Given the description of an element on the screen output the (x, y) to click on. 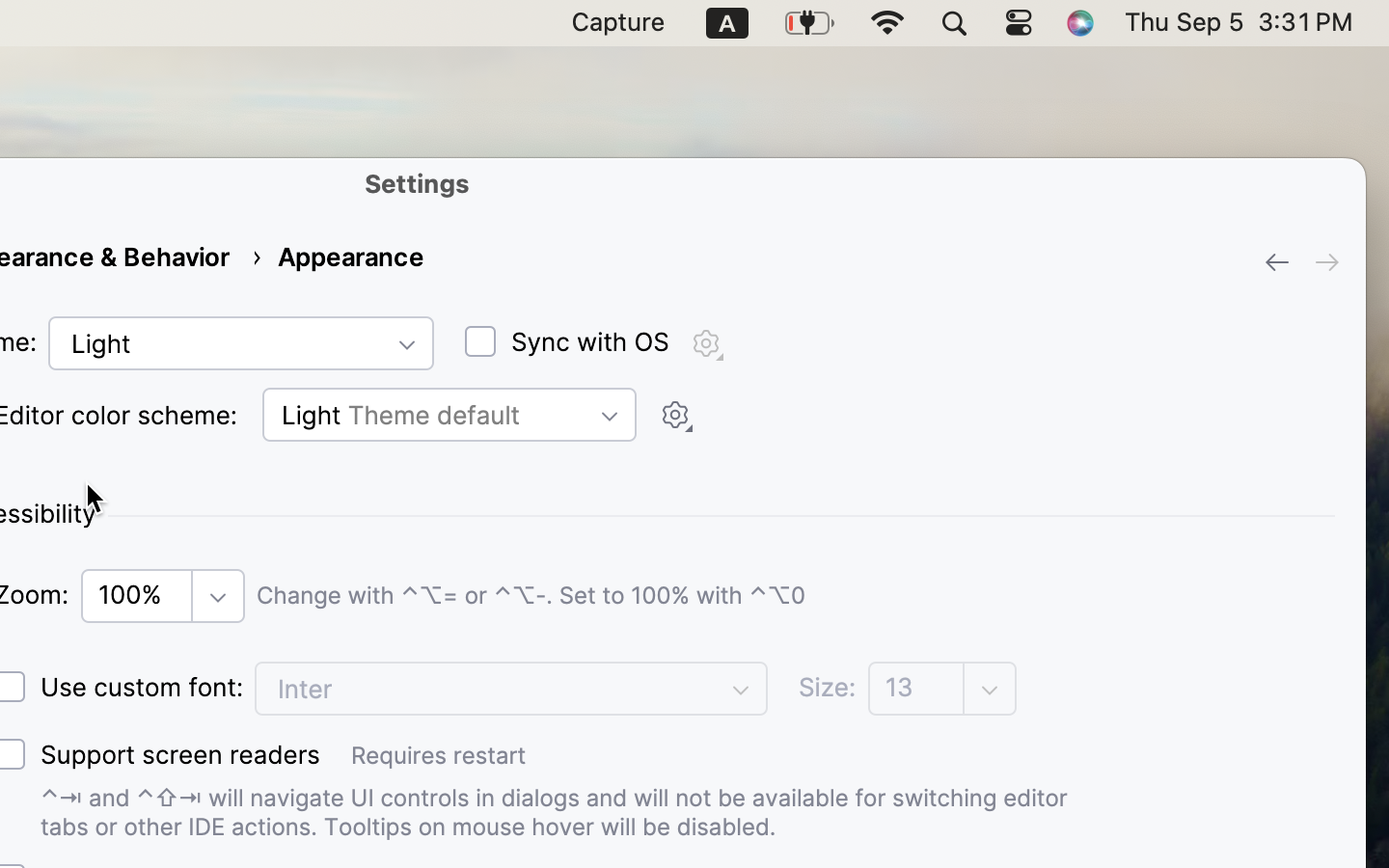
100% Element type: AXComboBox (162, 595)
LafReference(name=Light, themeId=ExperimentalLight) Element type: AXPopUpButton (240, 343)
⌃⇥ and ⌃⇧⇥ will navigate UI controls in dialogs and will not be available for switching editor tabs or other IDE actions. Tooltips on mouse hover will be disabled. Element type: AXTextField (580, 811)
Requires restart Element type: AXTextField (842, 754)
